Given the description of an element on the screen output the (x, y) to click on. 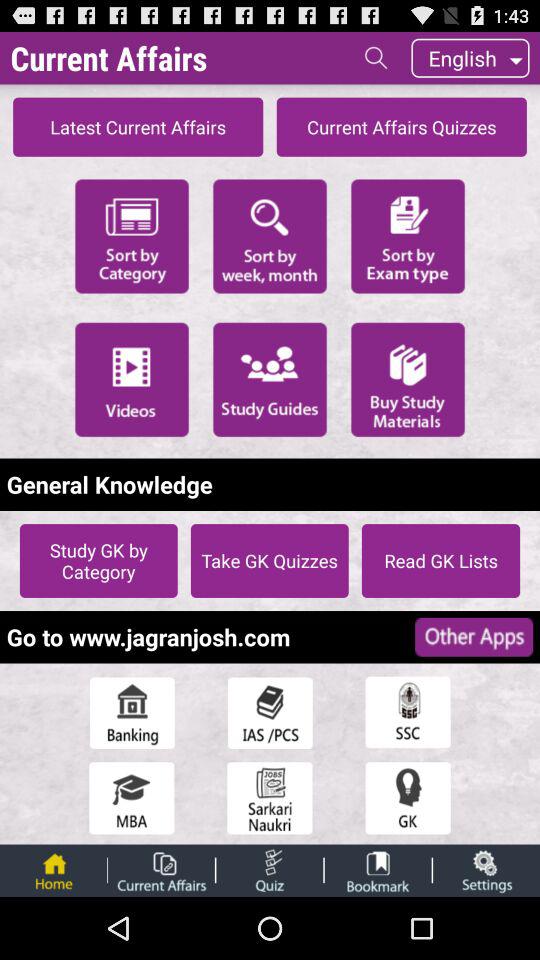
launch the app below the go to www icon (269, 712)
